Given the description of an element on the screen output the (x, y) to click on. 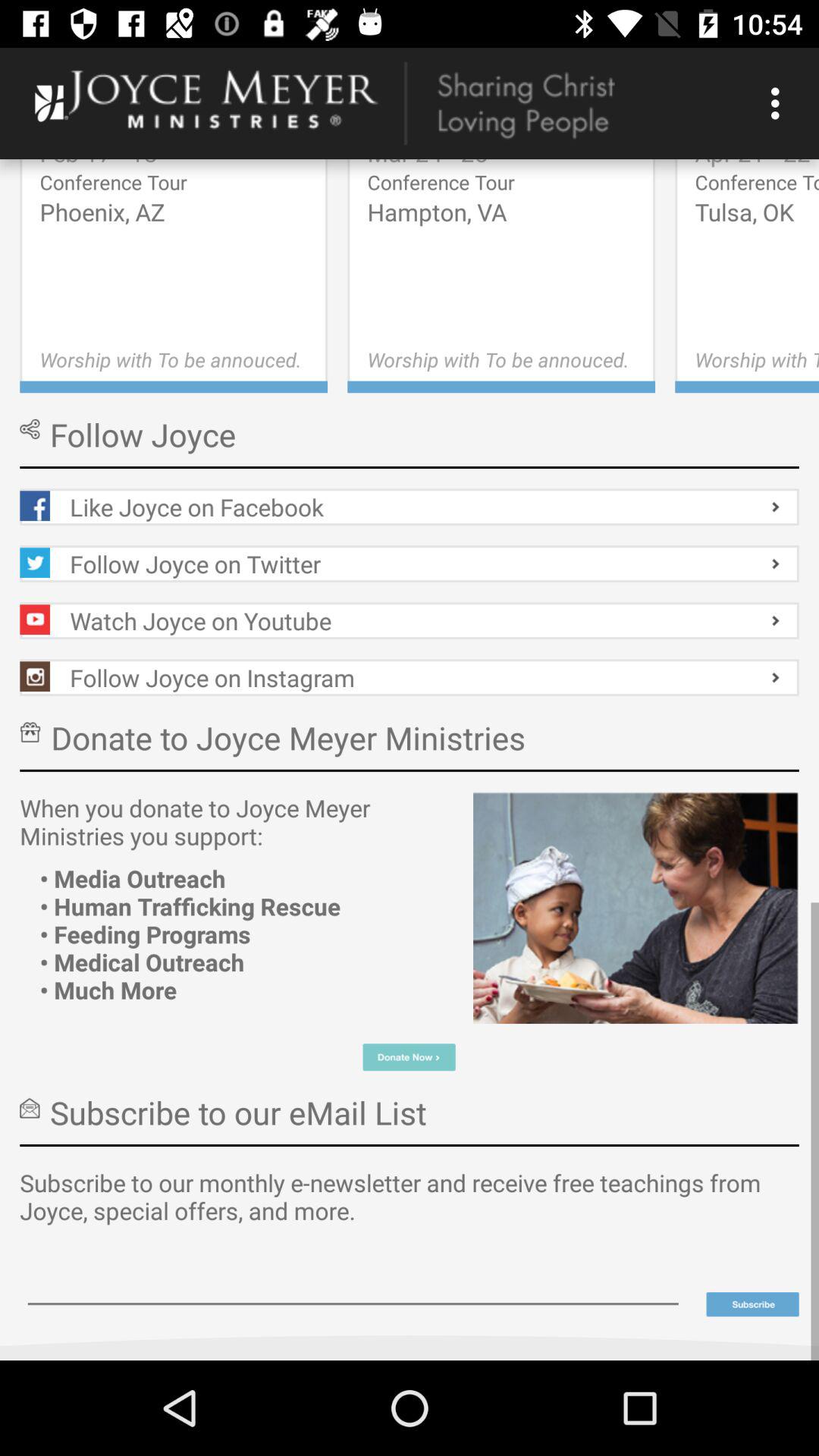
enter subscribe (752, 1304)
